Given the description of an element on the screen output the (x, y) to click on. 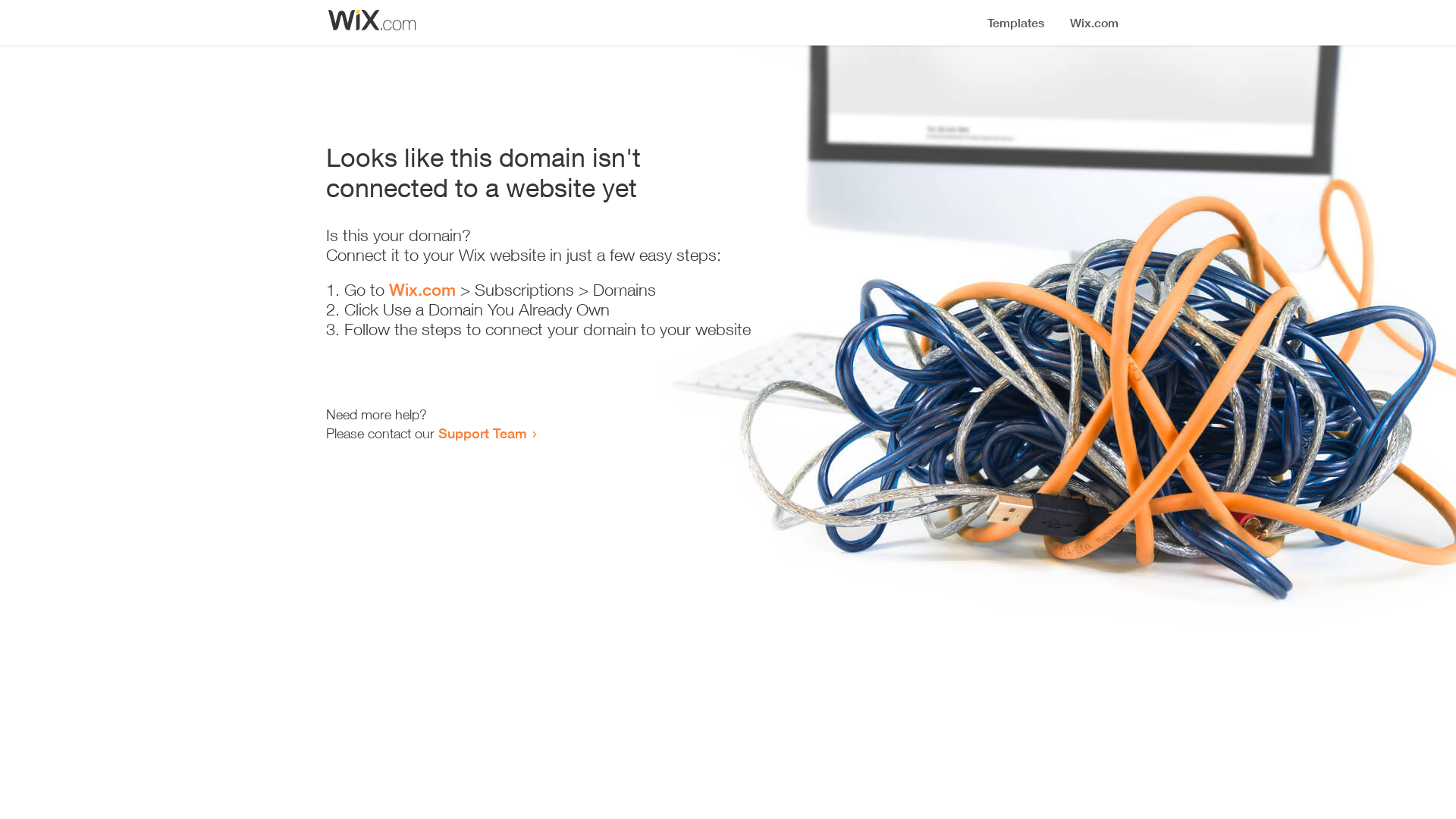
Wix.com Element type: text (422, 289)
Support Team Element type: text (482, 432)
